Given the description of an element on the screen output the (x, y) to click on. 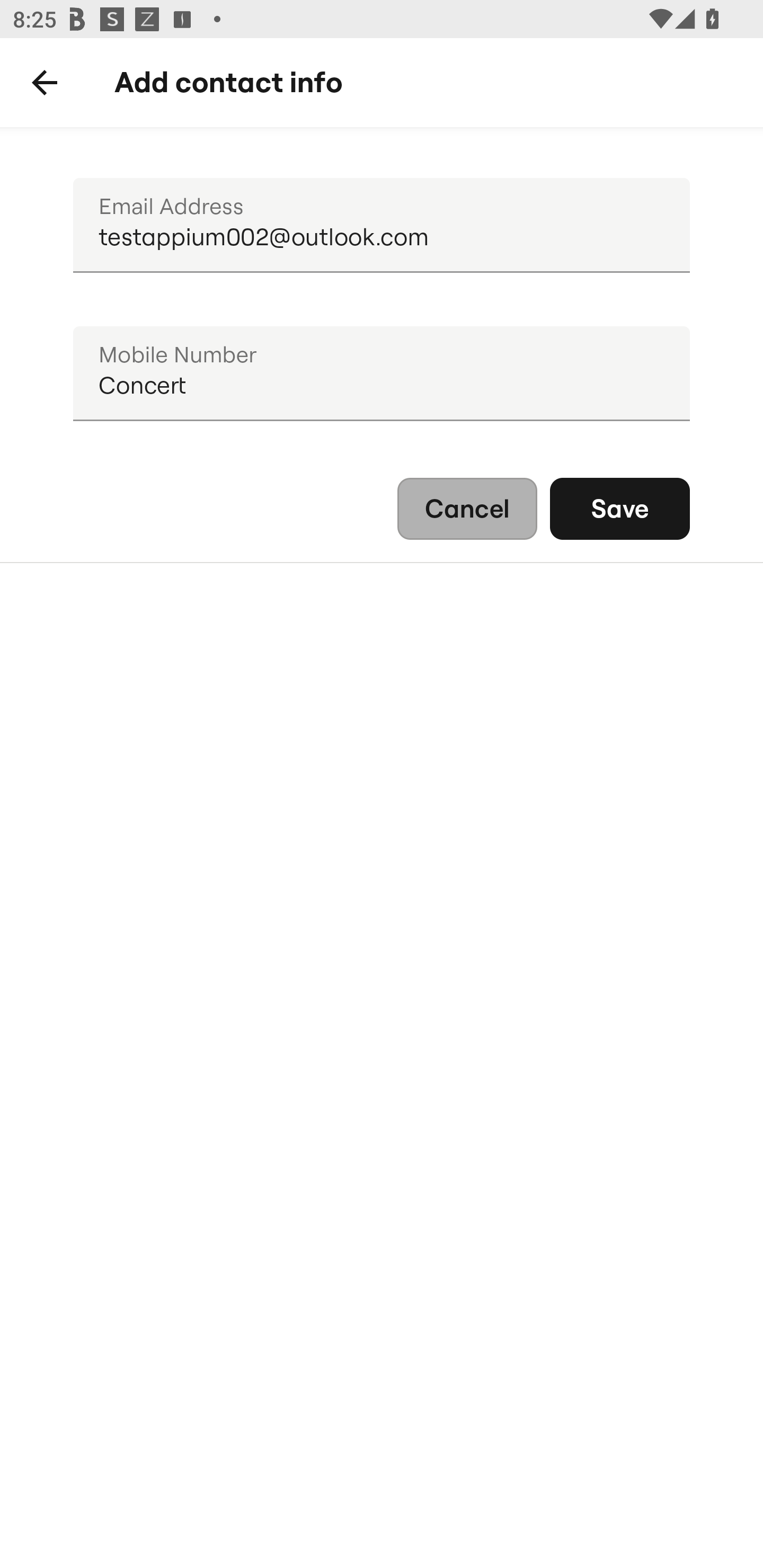
Back (44, 82)
testappium002@outlook.com (381, 225)
Concert (381, 373)
Cancel (467, 508)
Save (619, 508)
